Given the description of an element on the screen output the (x, y) to click on. 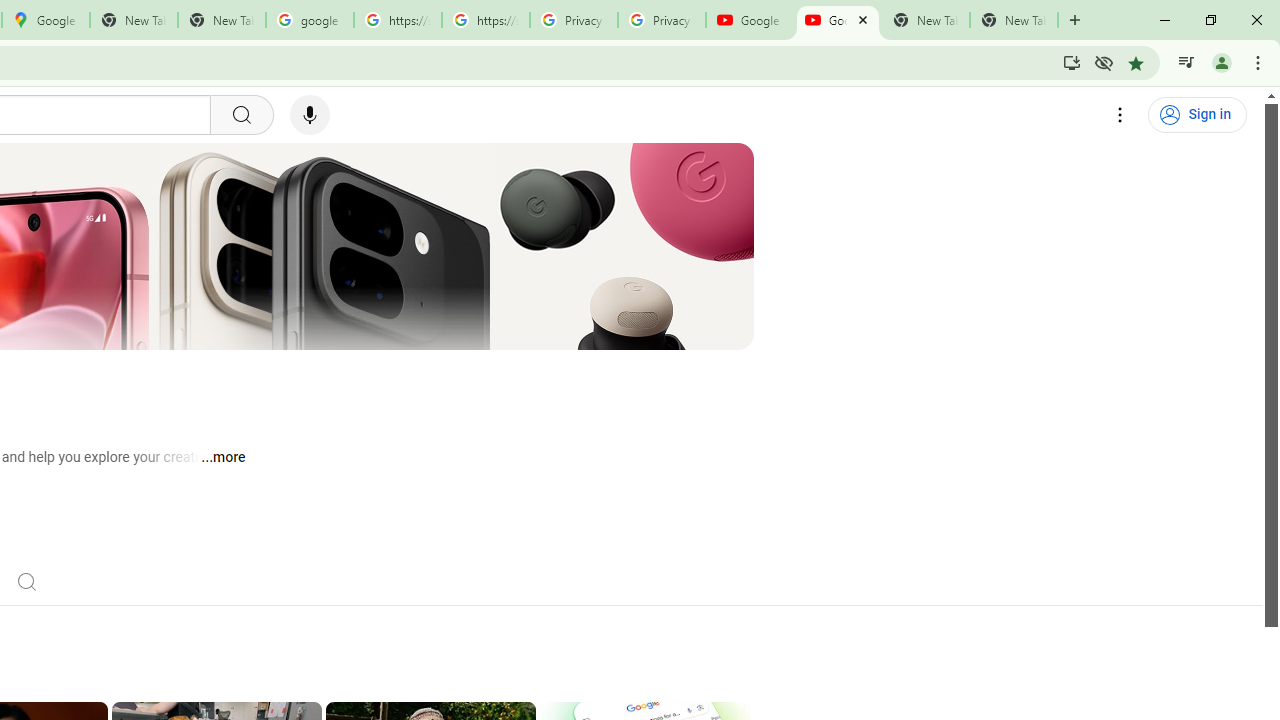
New Tab (1014, 20)
https://scholar.google.com/ (485, 20)
Search with your voice (309, 115)
